Given the description of an element on the screen output the (x, y) to click on. 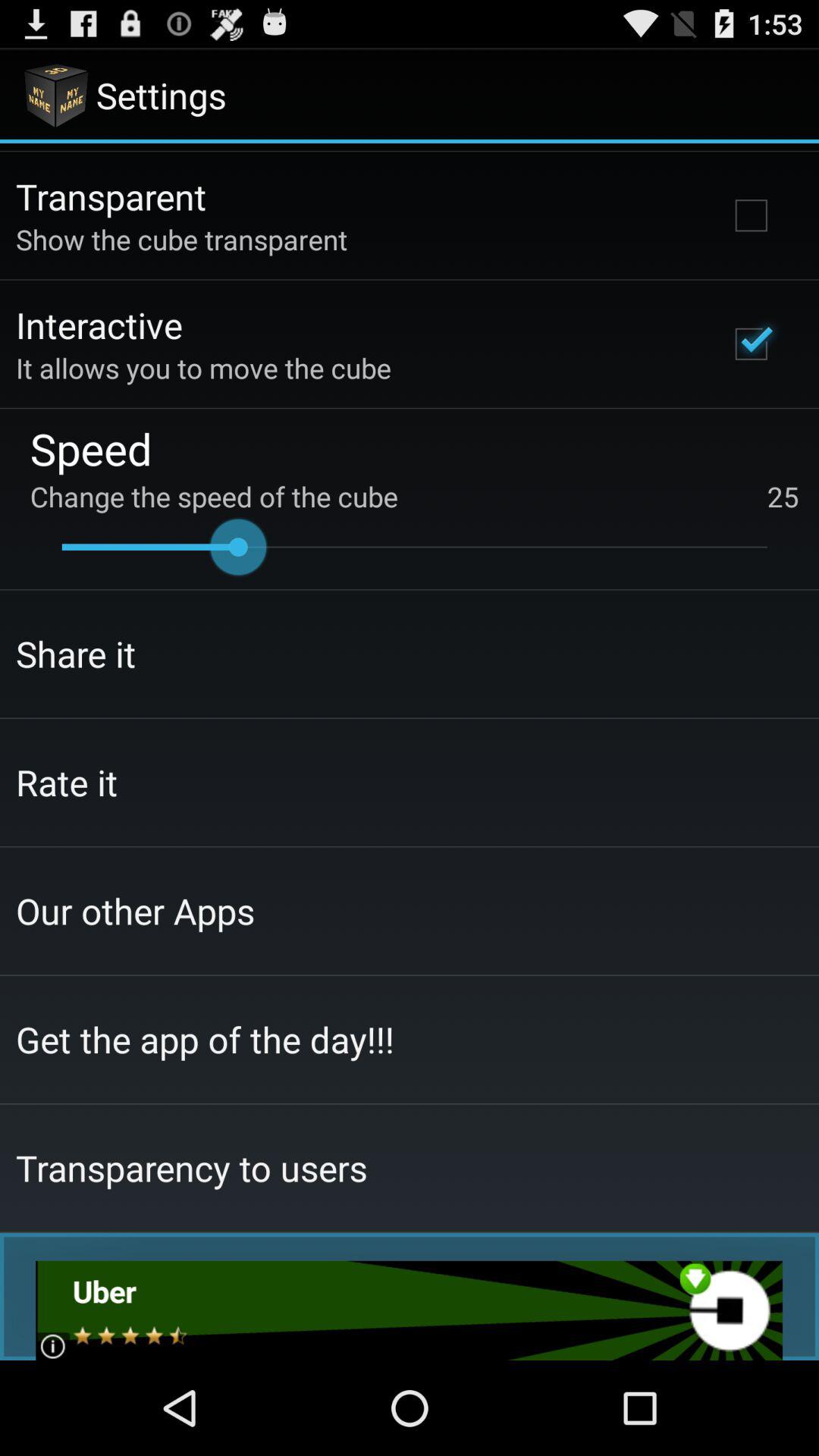
flip to the rate it app (66, 782)
